Given the description of an element on the screen output the (x, y) to click on. 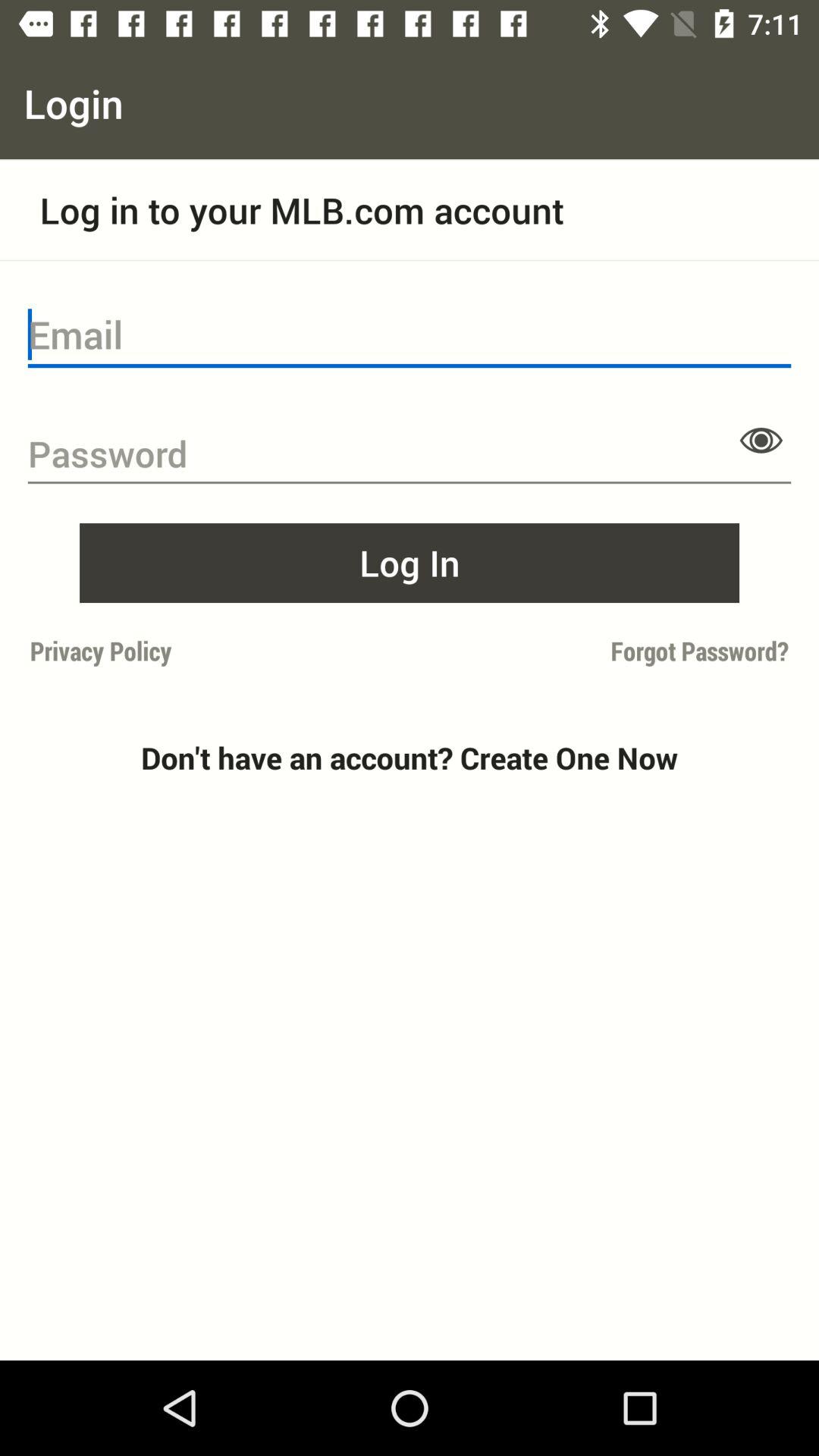
turn off privacy policy item (214, 650)
